Given the description of an element on the screen output the (x, y) to click on. 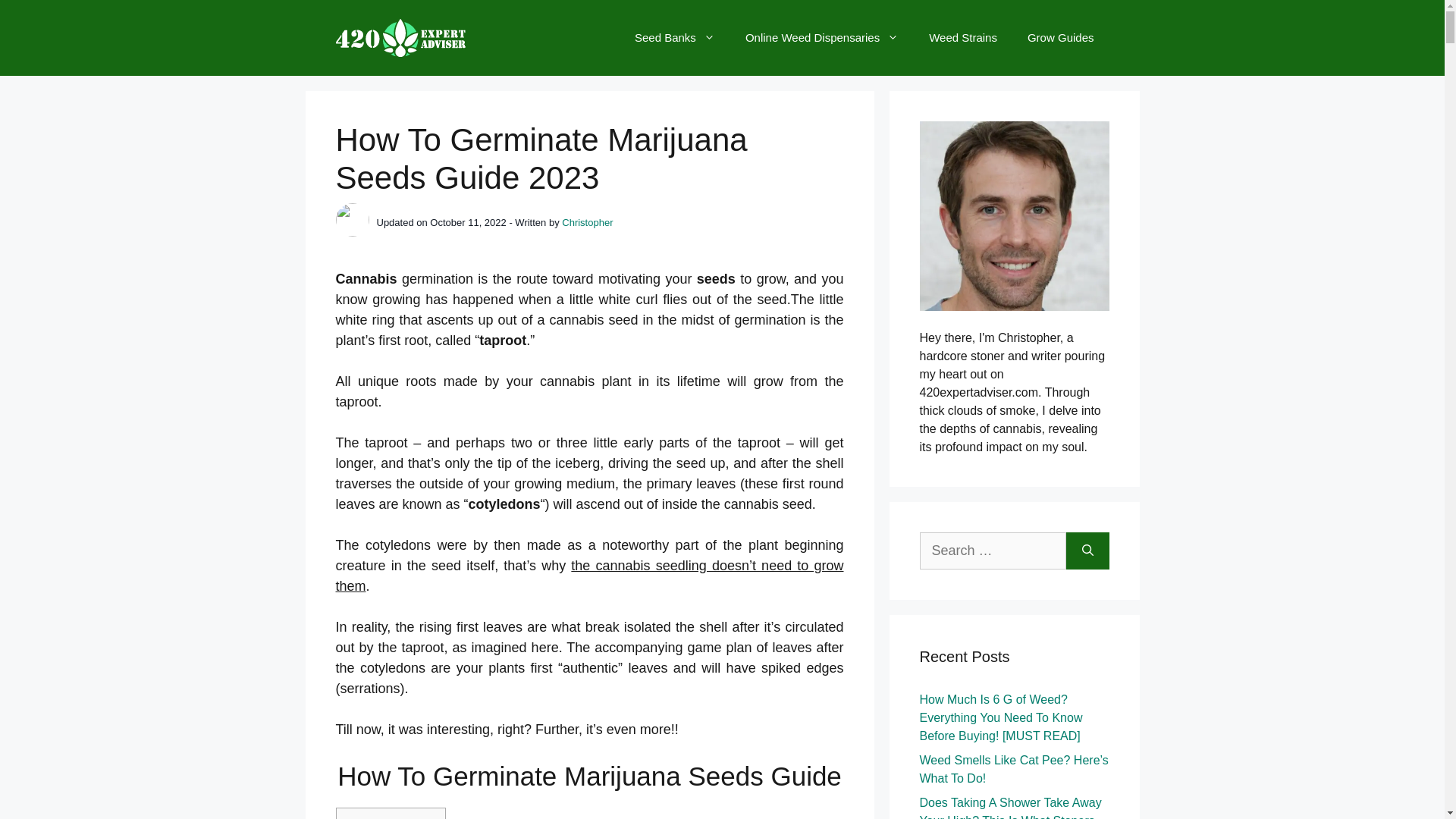
Christopher Element type: text (586, 222)
Grow Guides Element type: text (1060, 37)
Search for: Element type: hover (992, 550)
Weed Strains Element type: text (962, 37)
Seed Banks Element type: text (674, 37)
Online Weed Dispensaries Element type: text (821, 37)
